Given the description of an element on the screen output the (x, y) to click on. 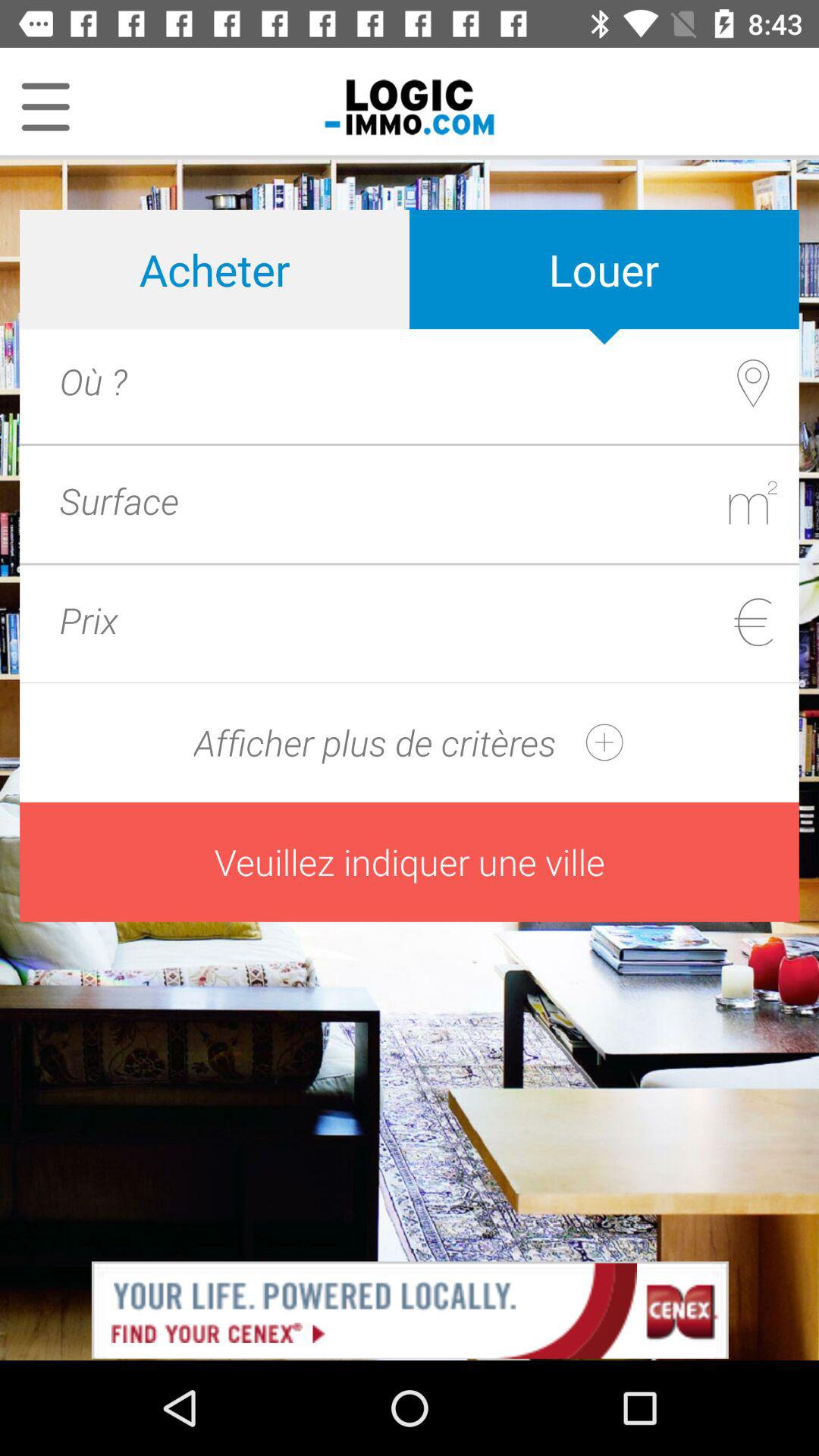
search to location (441, 381)
